Given the description of an element on the screen output the (x, y) to click on. 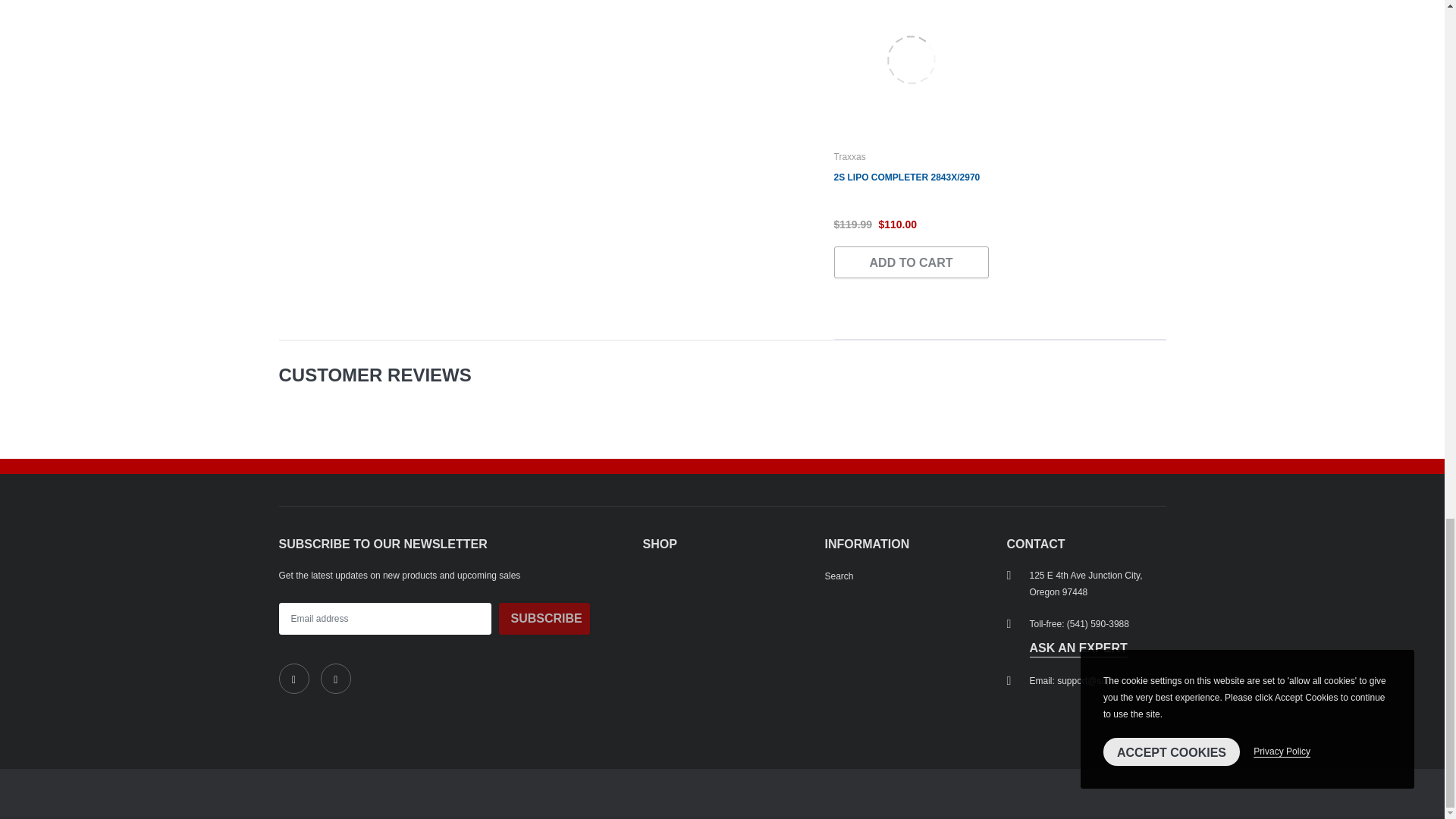
Instagram (335, 678)
Subscribe (544, 618)
Facebook (293, 678)
Traxxas (850, 156)
